Given the description of an element on the screen output the (x, y) to click on. 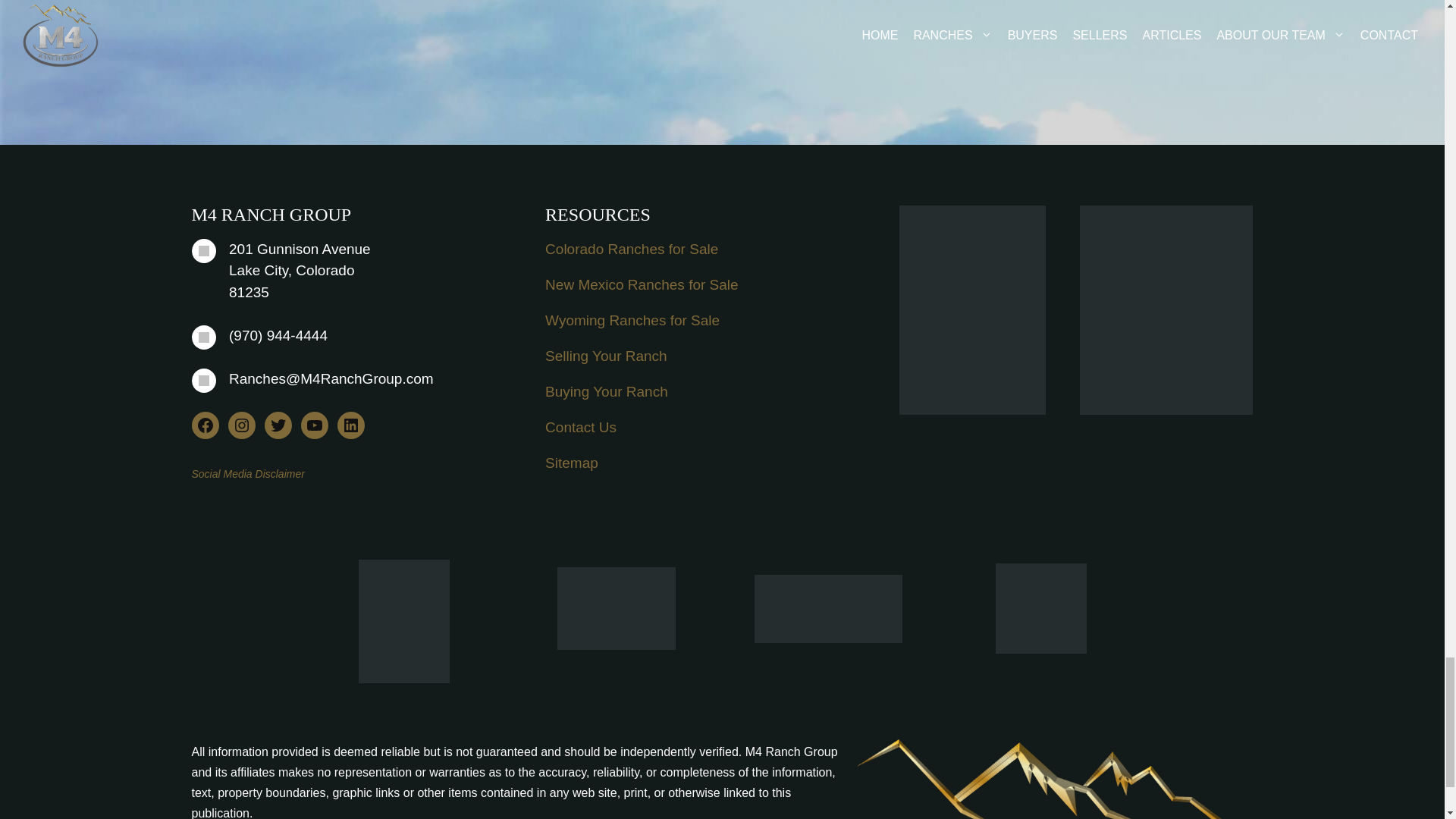
envelope-solid (202, 380)
compass-regular (202, 250)
RLI-retailor-of-the-year (827, 608)
phone-solid (202, 337)
APEX 2023 Producers Club logo (615, 608)
